Given the description of an element on the screen output the (x, y) to click on. 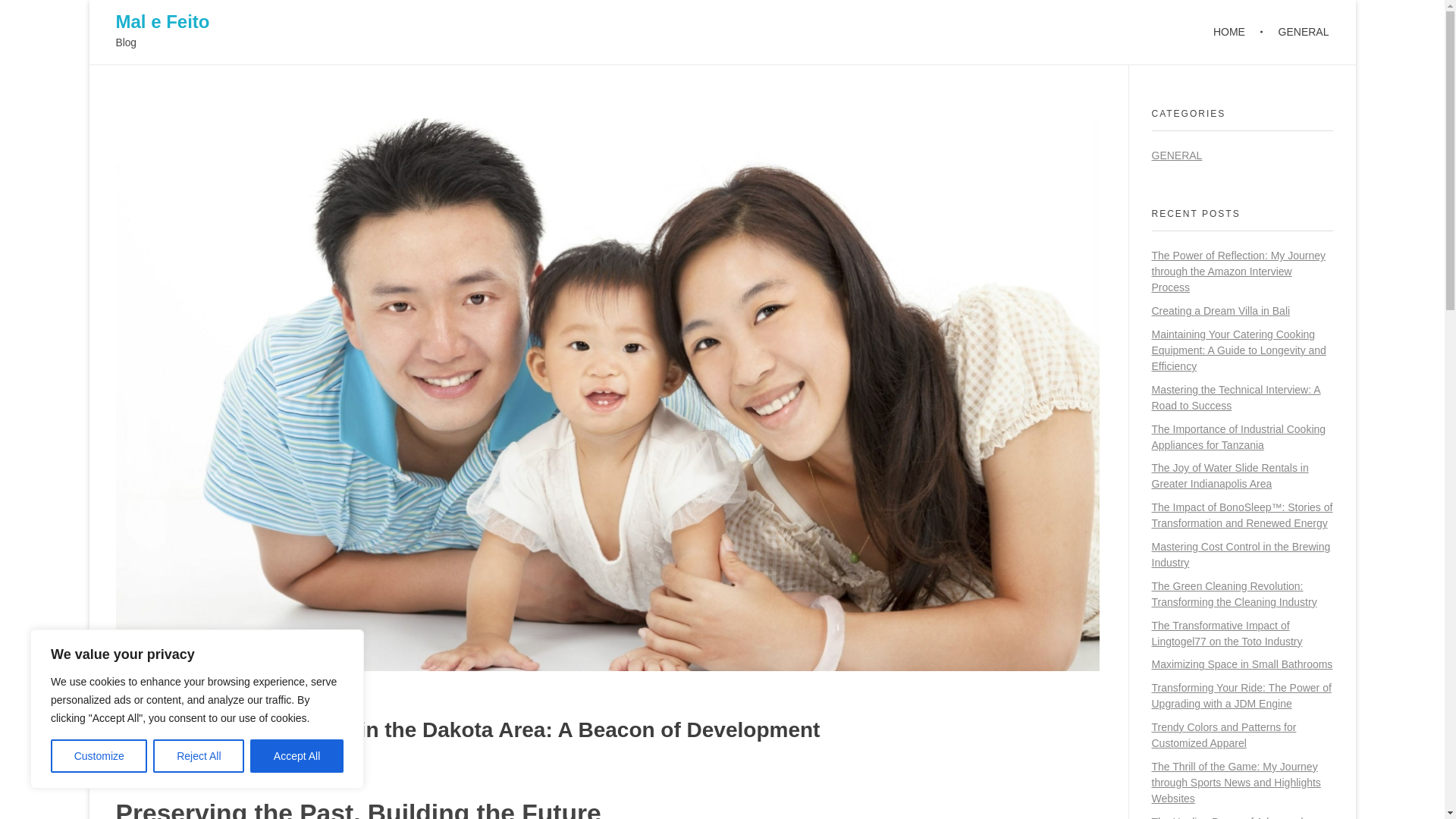
View all posts in General (276, 770)
Customize (98, 756)
Mastering the Technical Interview: A Road to Success (1235, 397)
Mastering Cost Control in the Brewing Industry (1240, 554)
GENERAL (1176, 155)
Mal e Feito (162, 21)
The Joy of Water Slide Rentals in Greater Indianapolis Area (1229, 475)
Accept All (296, 756)
